Given the description of an element on the screen output the (x, y) to click on. 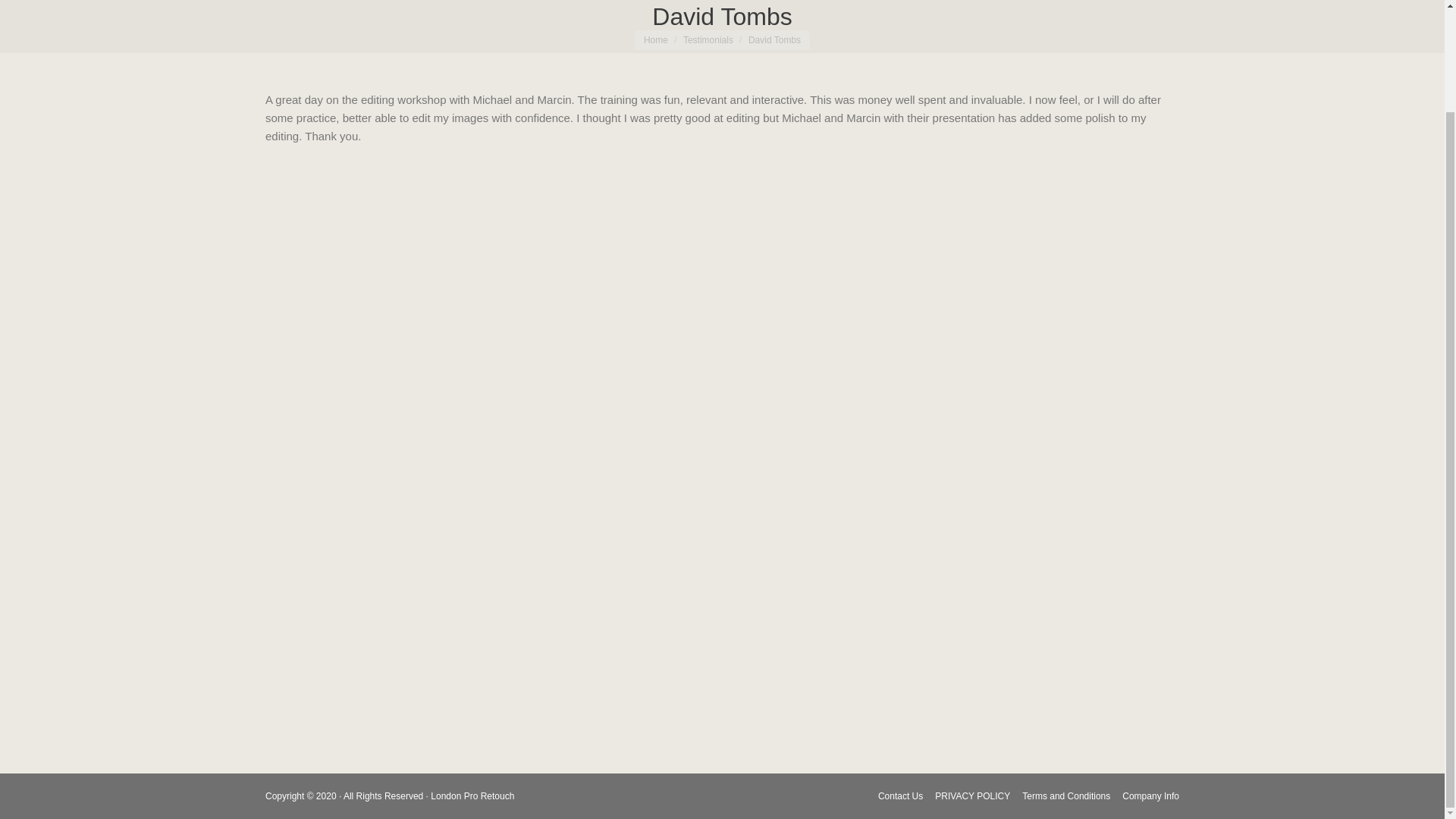
Contact Us (900, 678)
Terms and Conditions (1065, 678)
Testimonials (707, 40)
PRIVACY POLICY (972, 678)
Company Info (1150, 678)
London Pro Retouch (471, 676)
Home (655, 40)
